Given the description of an element on the screen output the (x, y) to click on. 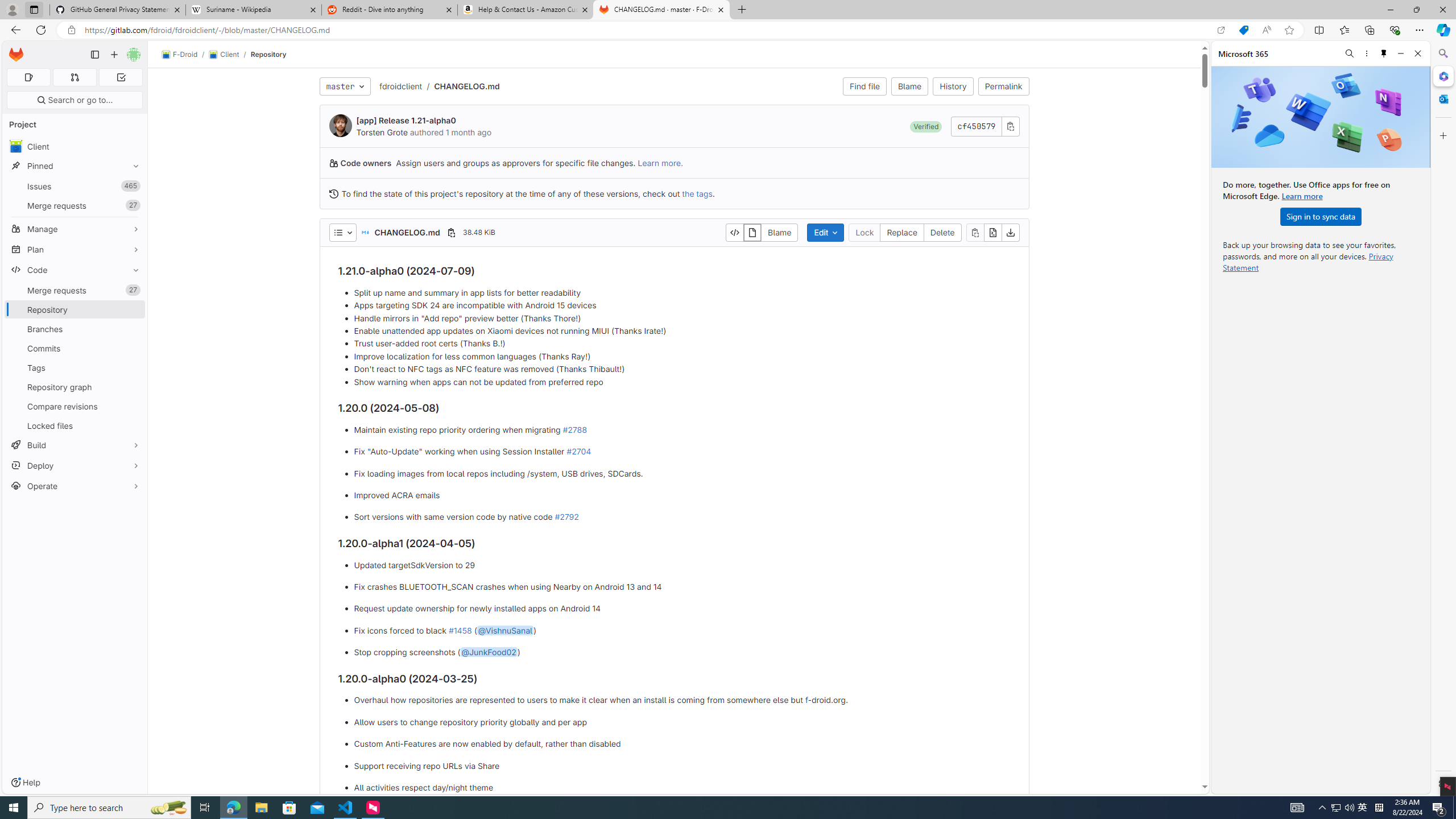
Support receiving repo URLs via Share (681, 765)
Repository graph (74, 386)
Fix icons forced to black #1458 (@VishnuSanal) (681, 630)
master (344, 85)
Display rendered file (752, 232)
Privacy Statement (1308, 261)
Create new... (113, 54)
fdroidclient (400, 85)
Pin Commits (132, 348)
Locked files (74, 425)
